Given the description of an element on the screen output the (x, y) to click on. 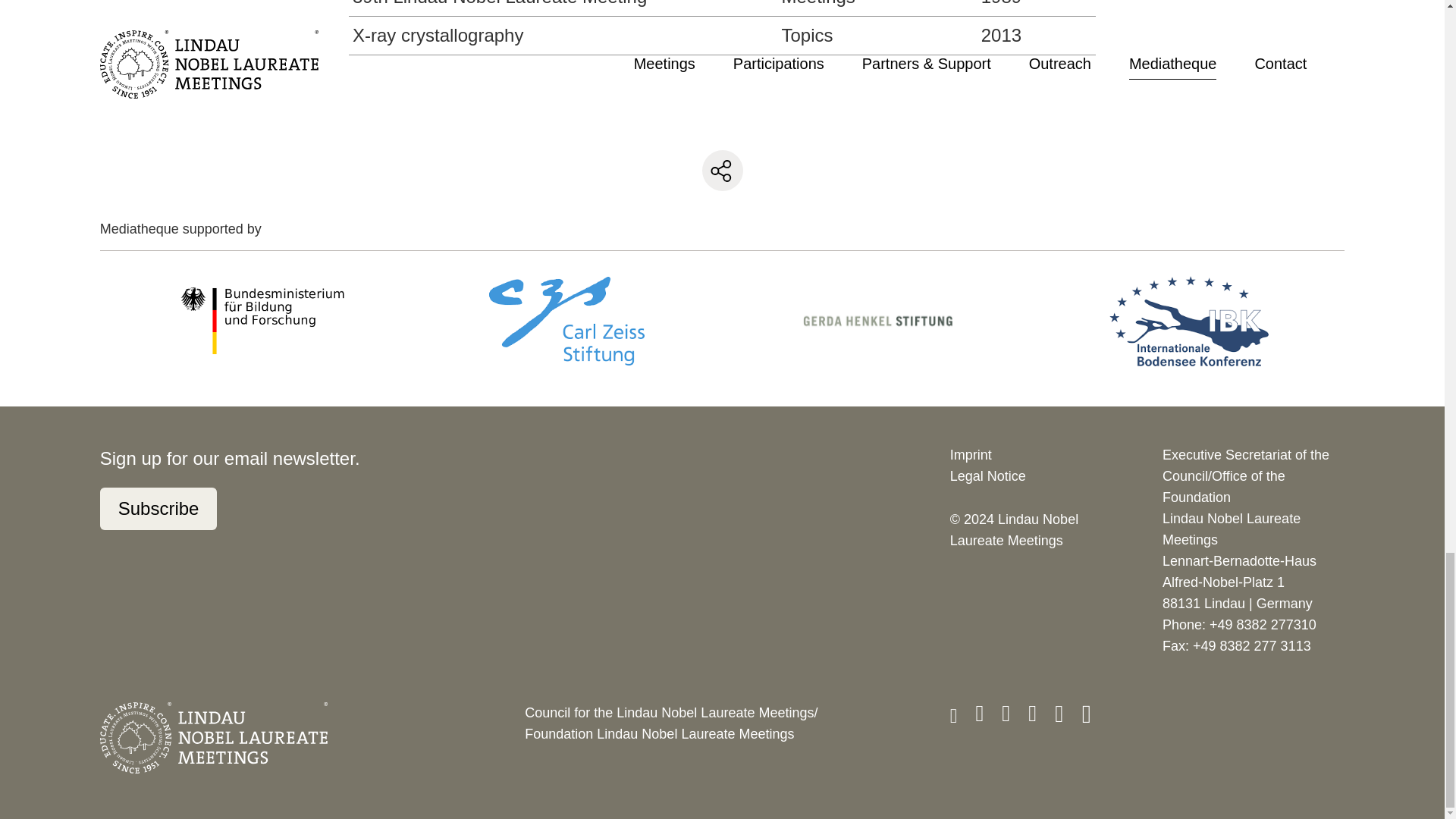
Internationale Bodensee Konferenz (1188, 321)
Carl Zeiss Stiftung (566, 320)
Gerda Henkel Stiftung (877, 320)
